Given the description of an element on the screen output the (x, y) to click on. 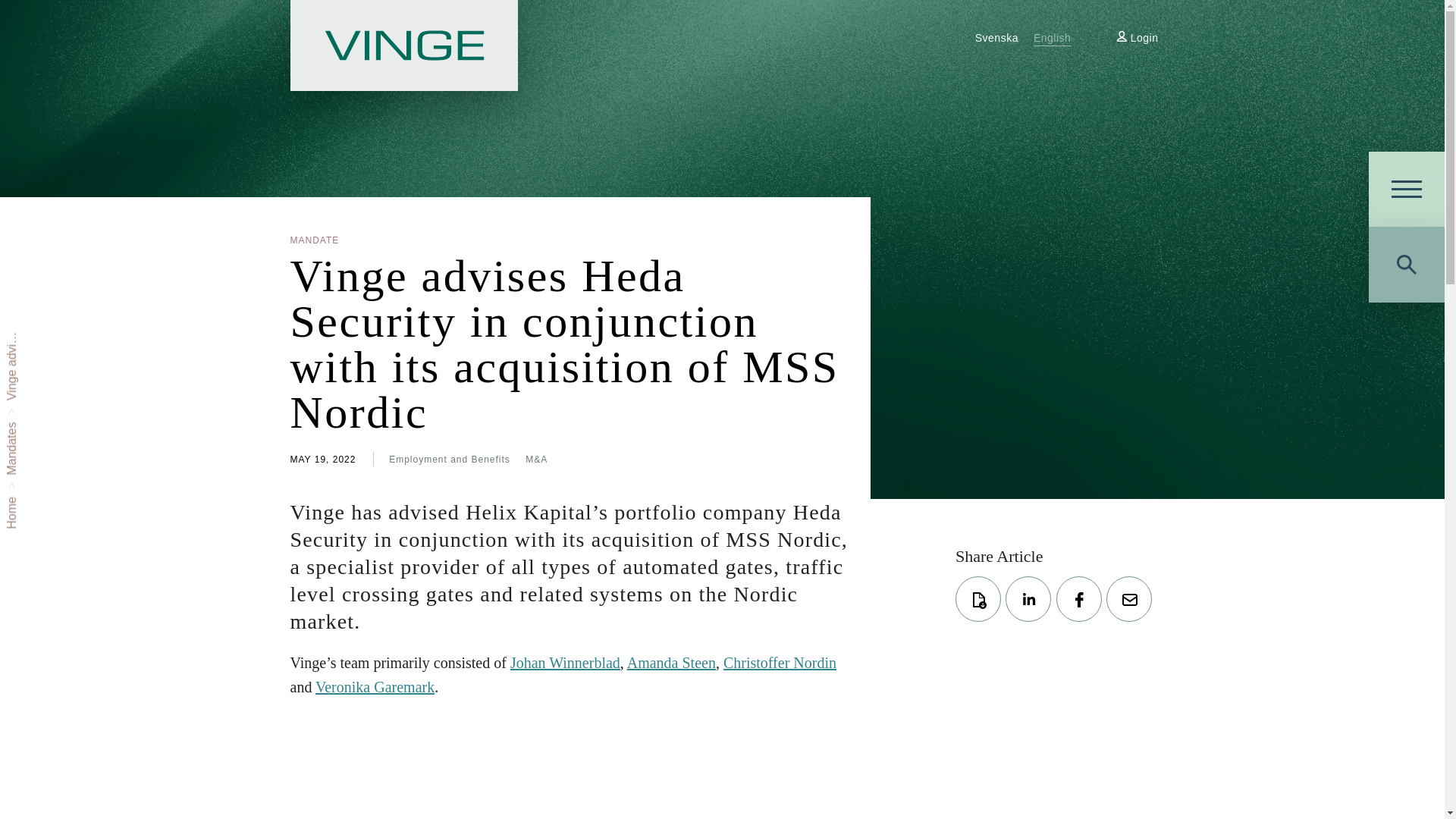
18D7E0DE-2035-40AE-A740-8F45A358A8F4 Login (1137, 38)
Svenska (997, 38)
18D7E0DE-2035-40AE-A740-8F45A358A8F4 (1121, 35)
English (1052, 38)
forstoringsglas (1406, 264)
